Given the description of an element on the screen output the (x, y) to click on. 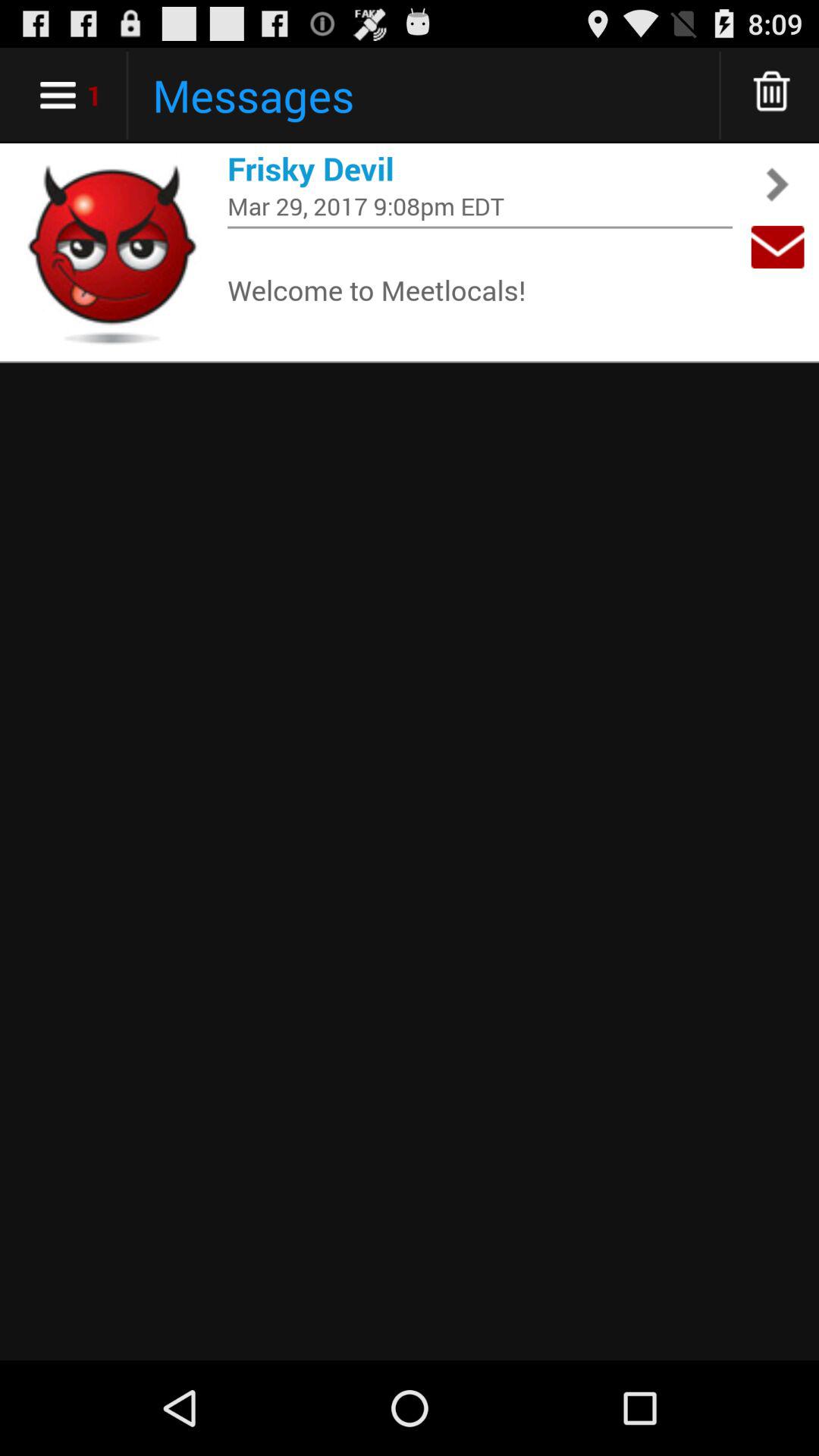
flip until the mar 29 2017 icon (479, 205)
